Given the description of an element on the screen output the (x, y) to click on. 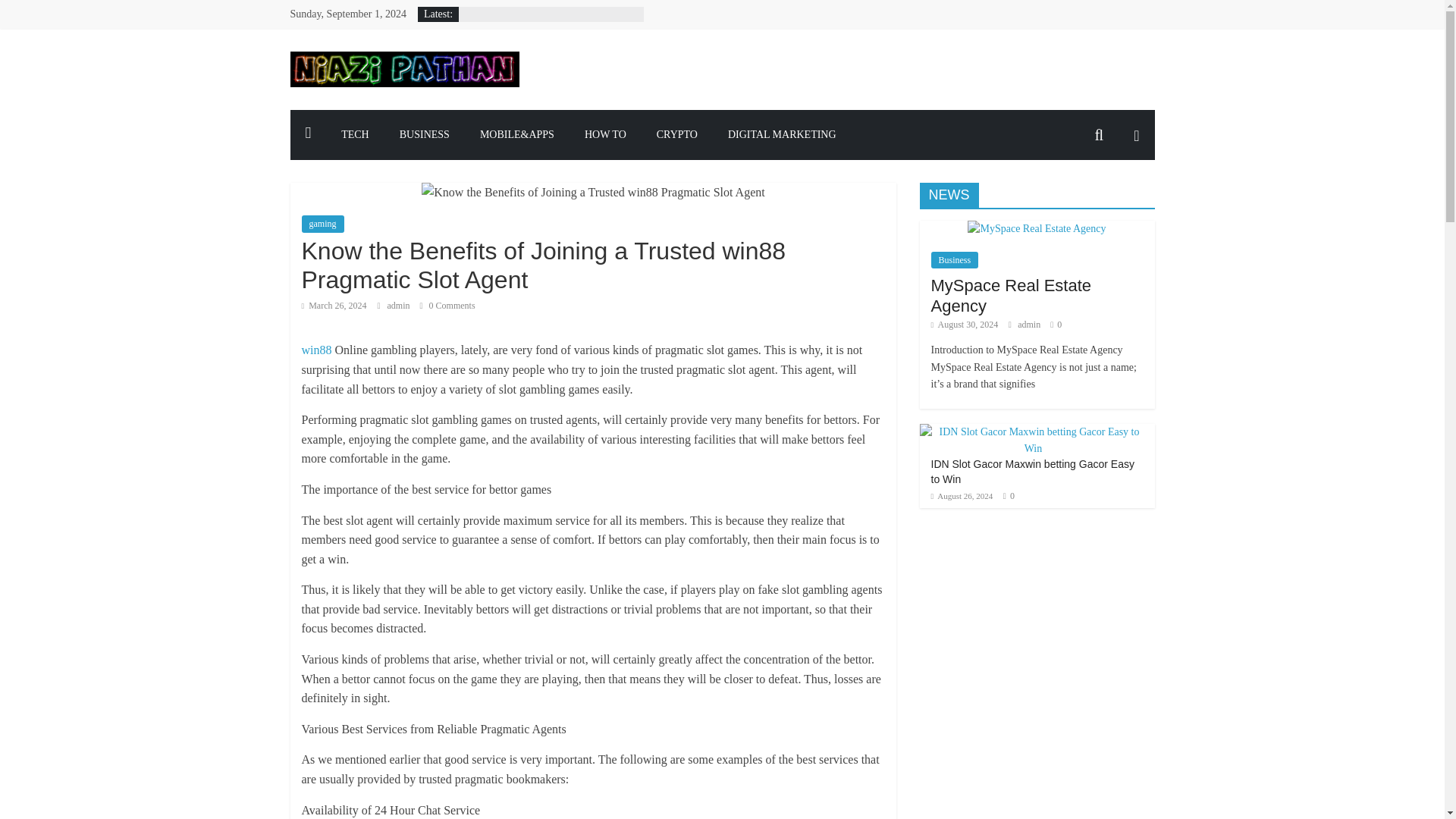
DIGITAL MARKETING (782, 134)
win88 (316, 349)
TECH (355, 134)
BUSINESS (424, 134)
admin (399, 305)
CRYPTO (677, 134)
March 26, 2024 (333, 305)
gaming (322, 223)
HOW TO (605, 134)
admin (399, 305)
